Given the description of an element on the screen output the (x, y) to click on. 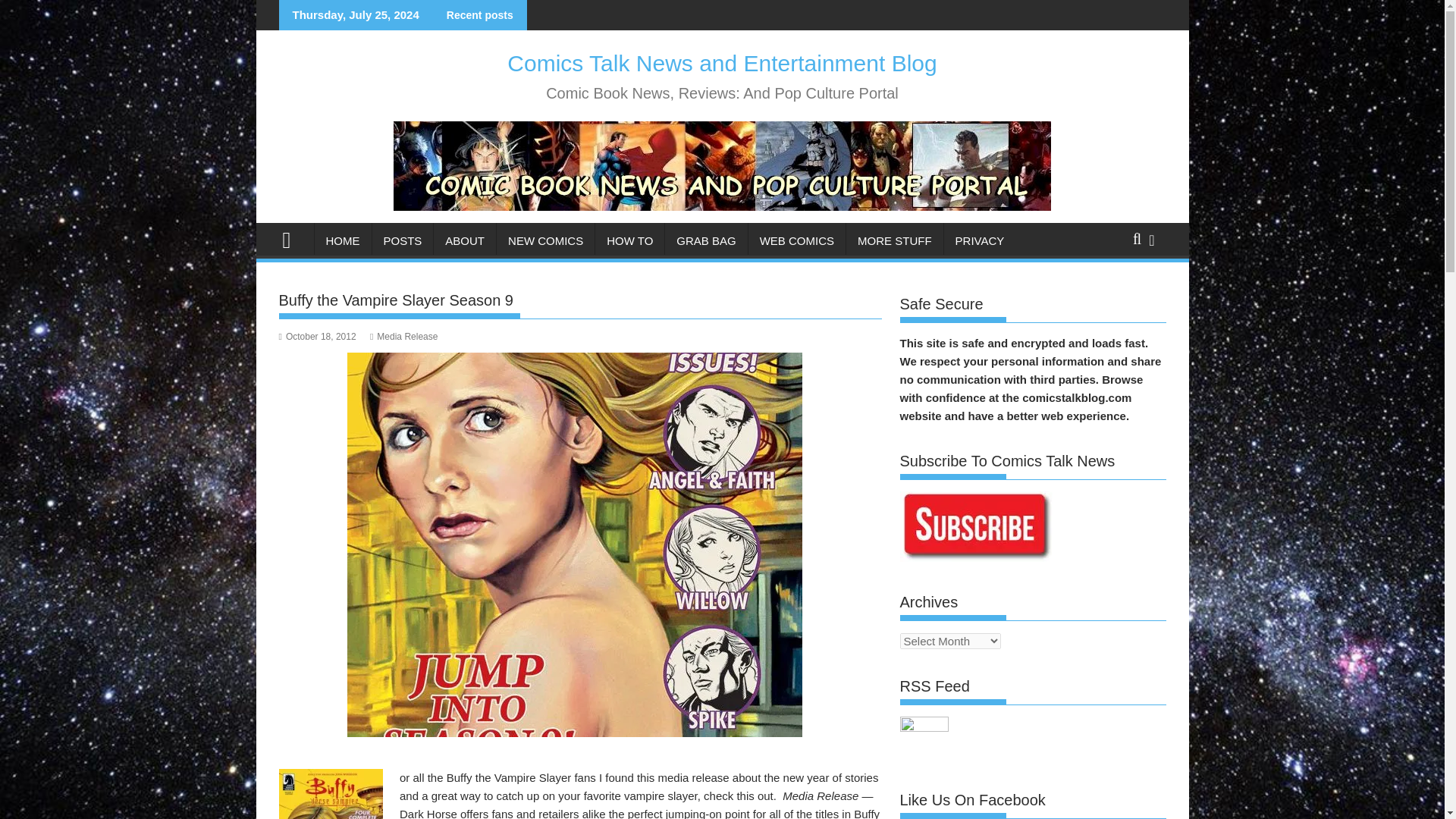
October 18, 2012 (317, 336)
MORE STUFF (894, 240)
HOW TO (629, 240)
POSTS (401, 240)
HOME (342, 240)
ABOUT (464, 240)
BuffySeason9 (330, 794)
Comics Talk News and Entertainment Blog (721, 63)
Comics Talk News and Entertainment Blog (293, 238)
Media Release (403, 336)
WEB COMICS (796, 240)
NEW COMICS (545, 240)
PRIVACY (979, 240)
GRAB BAG (705, 240)
